Given the description of an element on the screen output the (x, y) to click on. 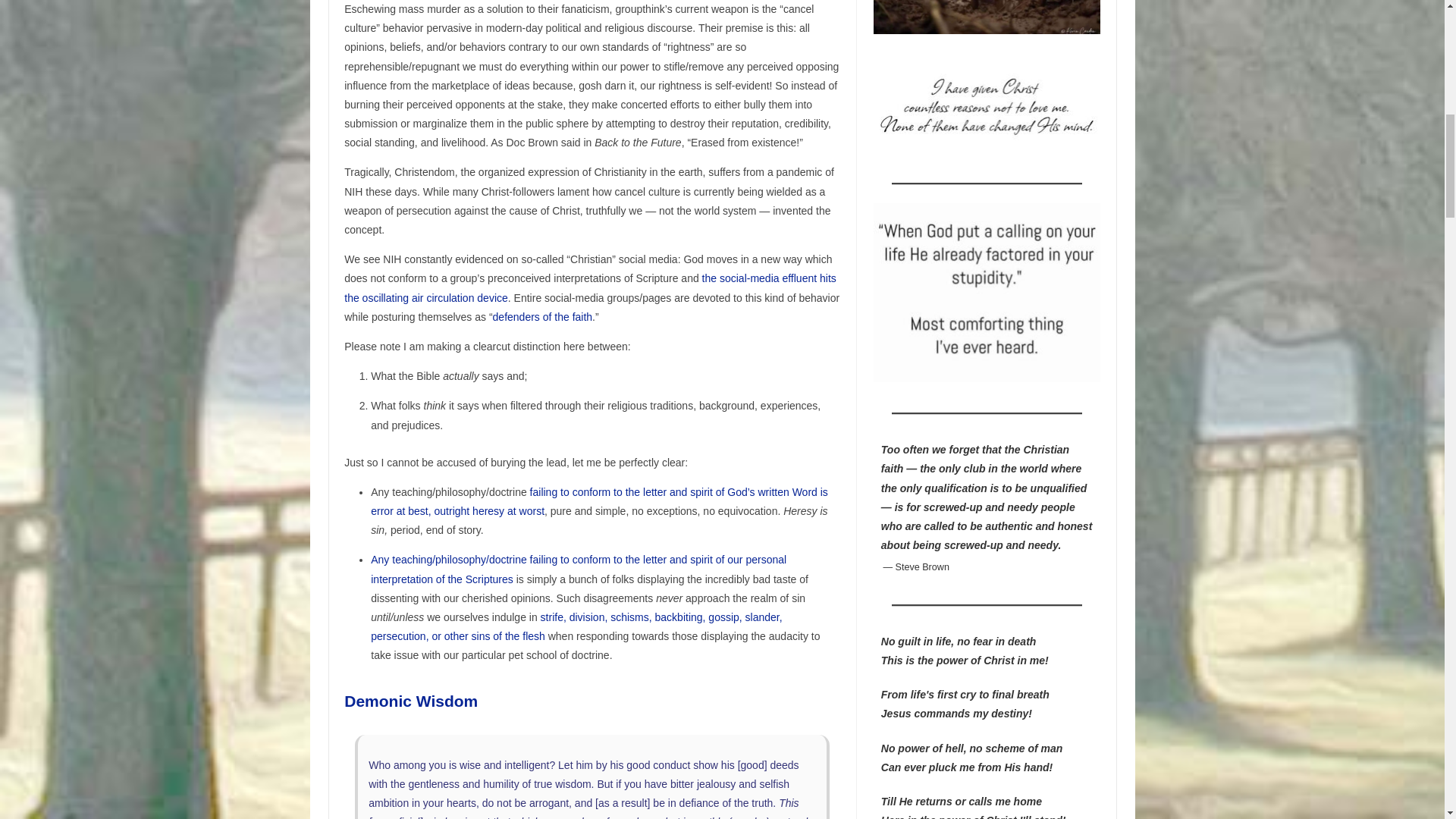
my article on hermeneutics (599, 501)
defenders of the faith (542, 316)
my article on cyber-bullying (589, 287)
my article entitled 'Guardians of the Orthodoxy' (542, 316)
my article on mockery and ridicule (576, 626)
